Given the description of an element on the screen output the (x, y) to click on. 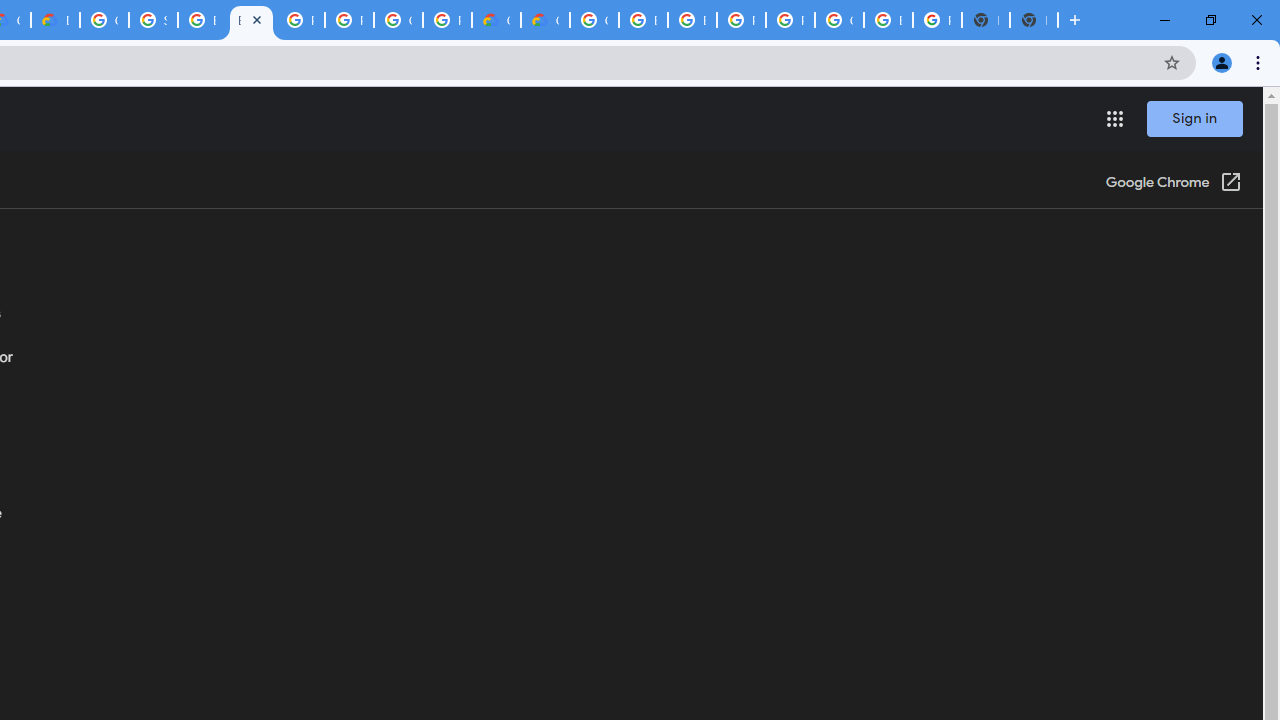
Google Chrome (Open in a new window) (1173, 183)
Browse Chrome as a guest - Computer - Google Chrome Help (643, 20)
Google Cloud Platform (104, 20)
Google Cloud Estimate Summary (545, 20)
New Tab (1033, 20)
